Given the description of an element on the screen output the (x, y) to click on. 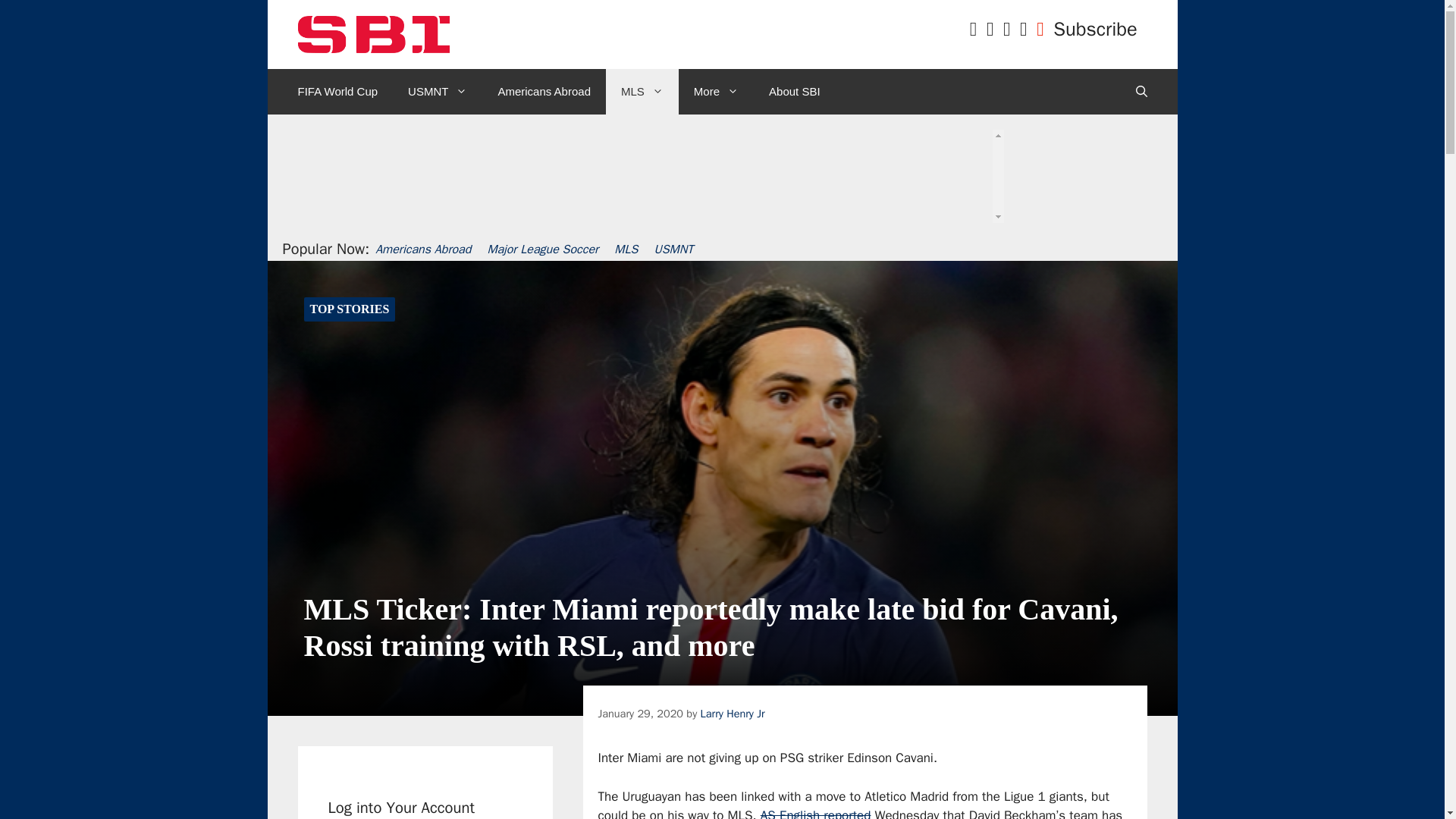
USMNT (437, 91)
FIFA World Cup (337, 91)
MLS (641, 91)
Americans Abroad (543, 91)
View all posts by Larry Henry Jr (732, 713)
Subscribe (1094, 28)
